Given the description of an element on the screen output the (x, y) to click on. 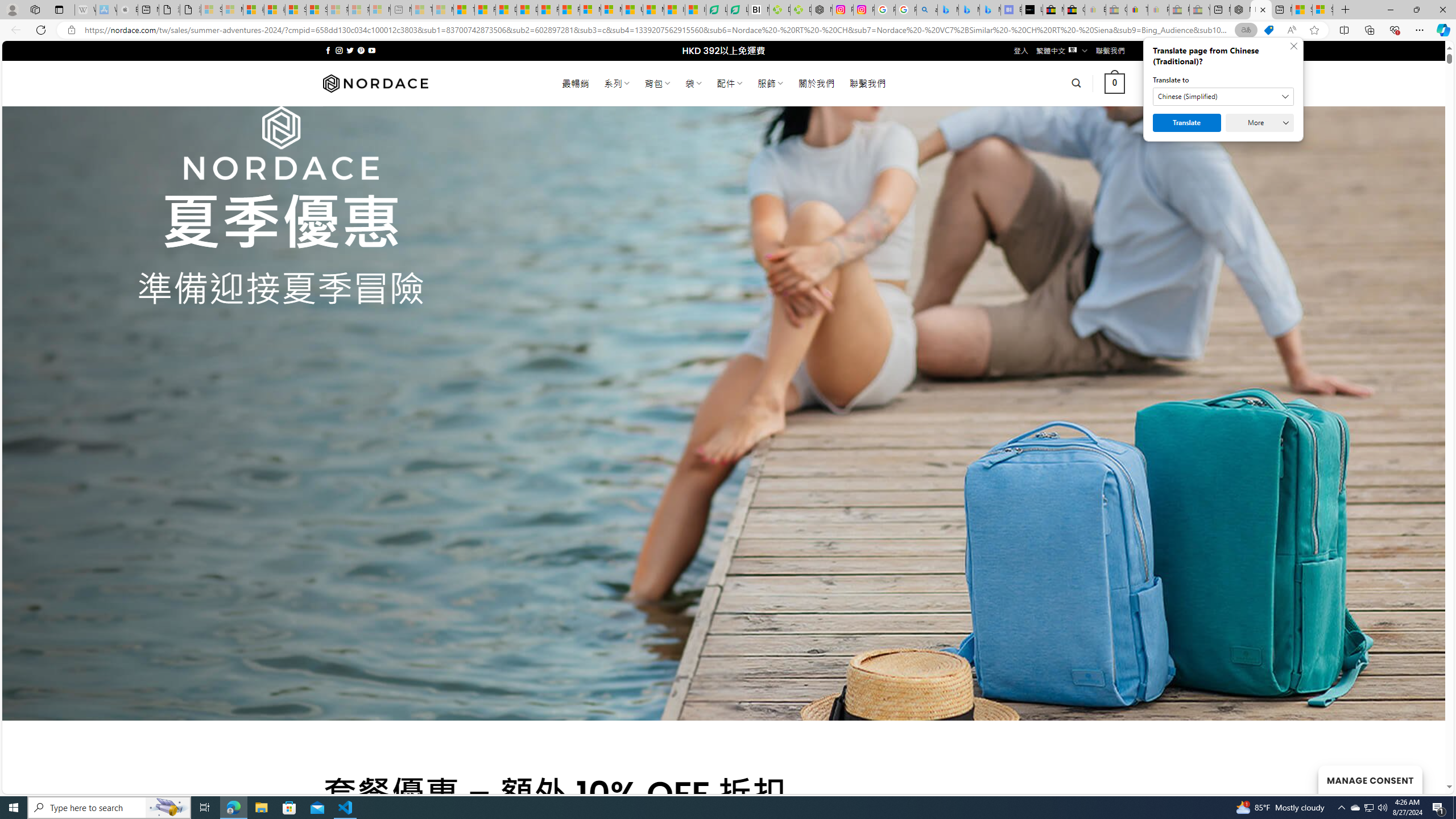
Threats and offensive language policy | eBay (1137, 9)
Yard, Garden & Outdoor Living - Sleeping (1199, 9)
This site has coupons! Shopping in Microsoft Edge (1268, 29)
Follow on Instagram (338, 50)
  0   (1115, 83)
Nordace (374, 83)
Microsoft Bing Travel - Flights from Hong Kong to Bangkok (948, 9)
